Given the description of an element on the screen output the (x, y) to click on. 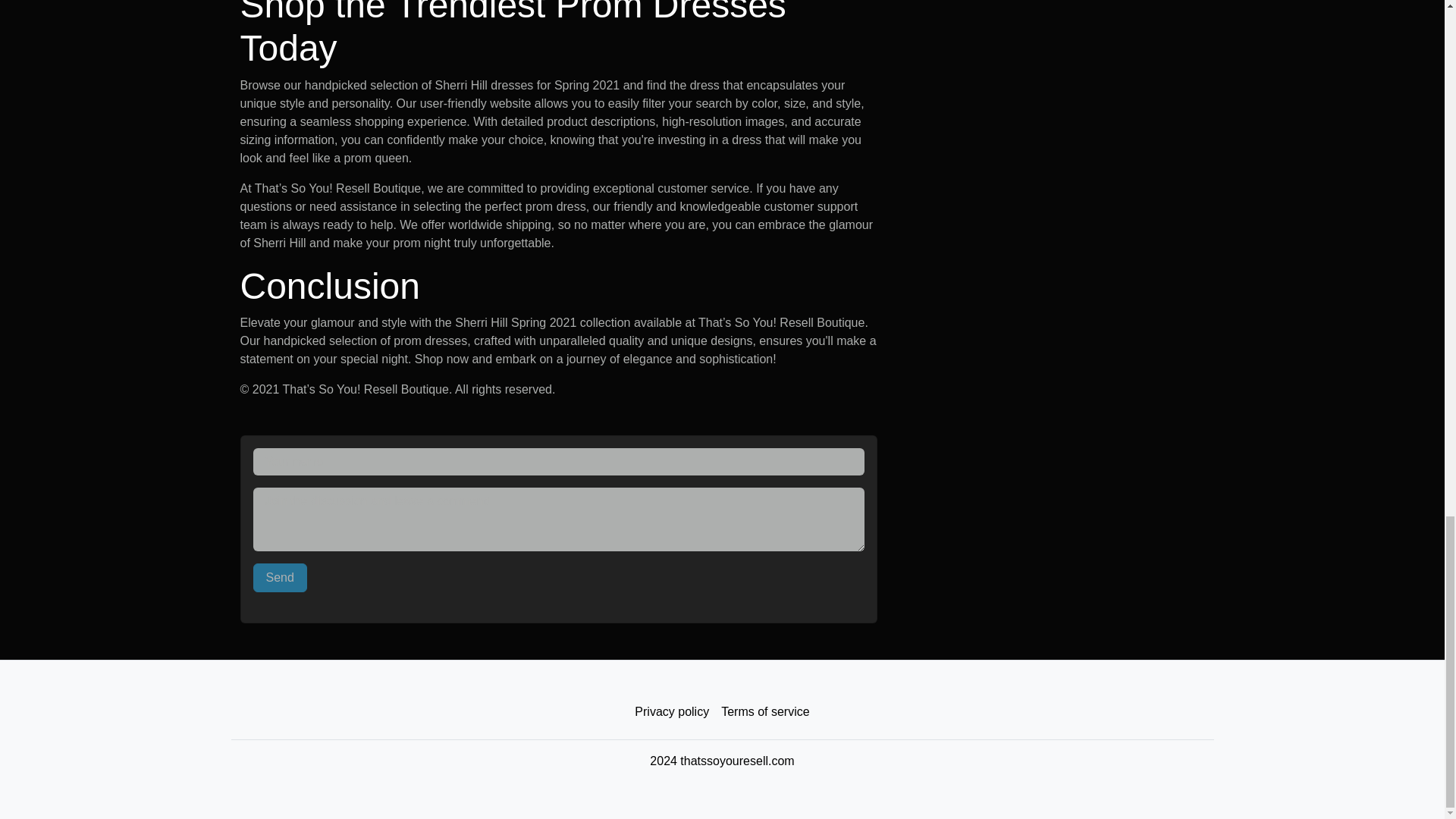
Terms of service (764, 711)
Send (280, 577)
Privacy policy (671, 711)
Send (280, 577)
